Given the description of an element on the screen output the (x, y) to click on. 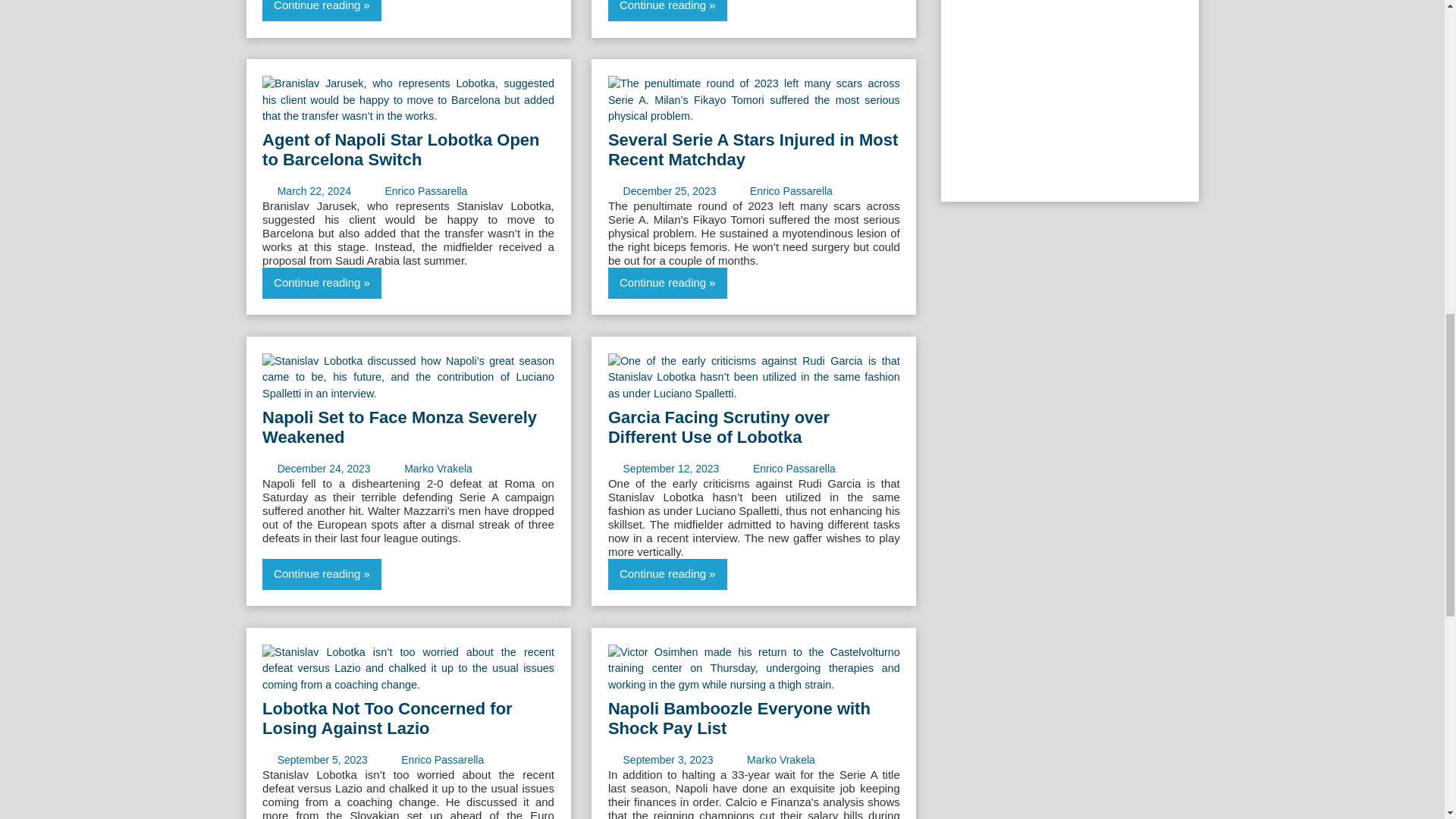
7:00 pm (324, 468)
1:30 pm (669, 191)
View all posts by Marko Vrakela (437, 468)
9:00 am (314, 191)
View all posts by Enrico Passarella (790, 191)
11:00 am (671, 468)
View all posts by Enrico Passarella (425, 191)
